Given the description of an element on the screen output the (x, y) to click on. 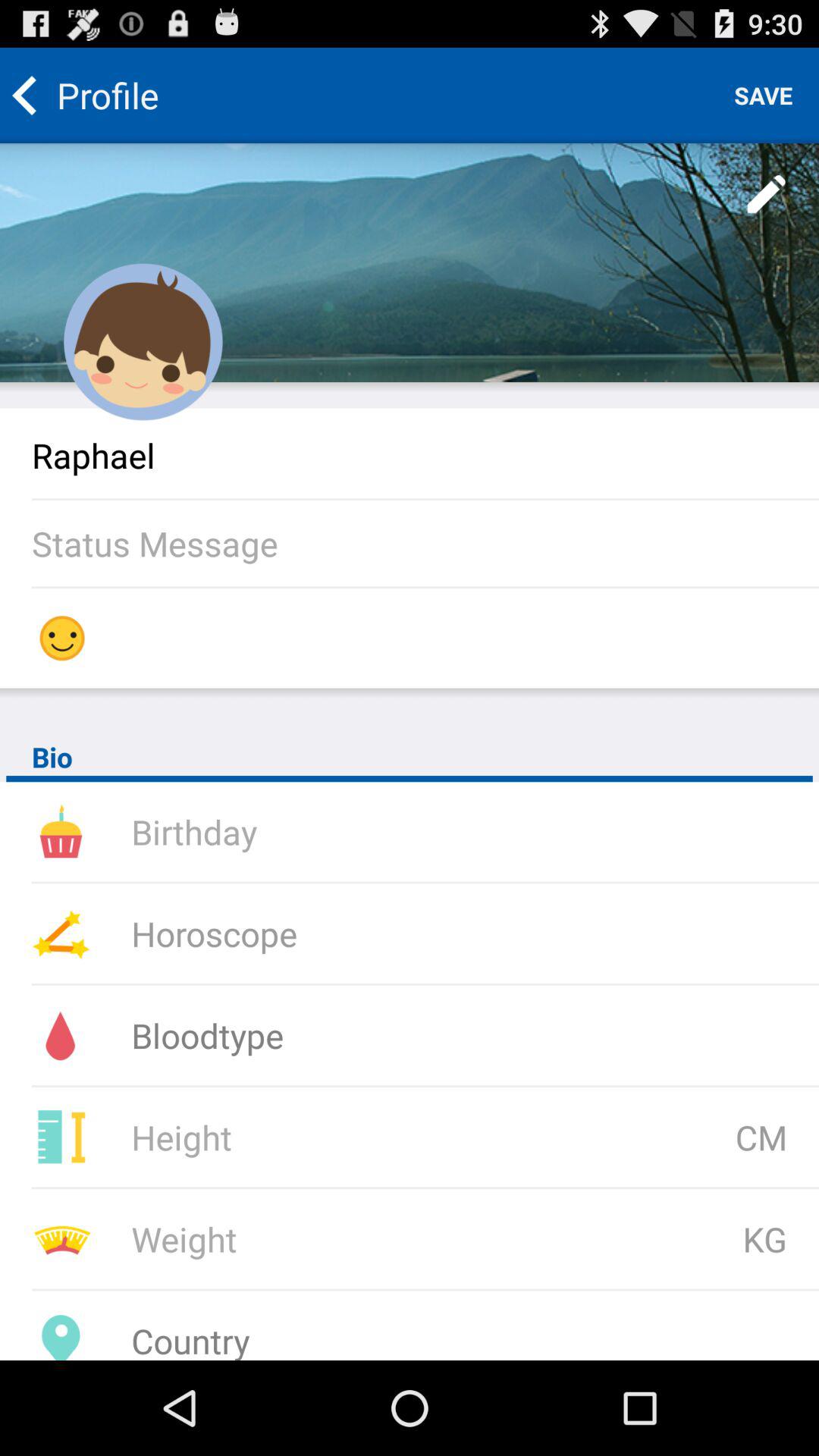
add height (330, 1137)
